Given the description of an element on the screen output the (x, y) to click on. 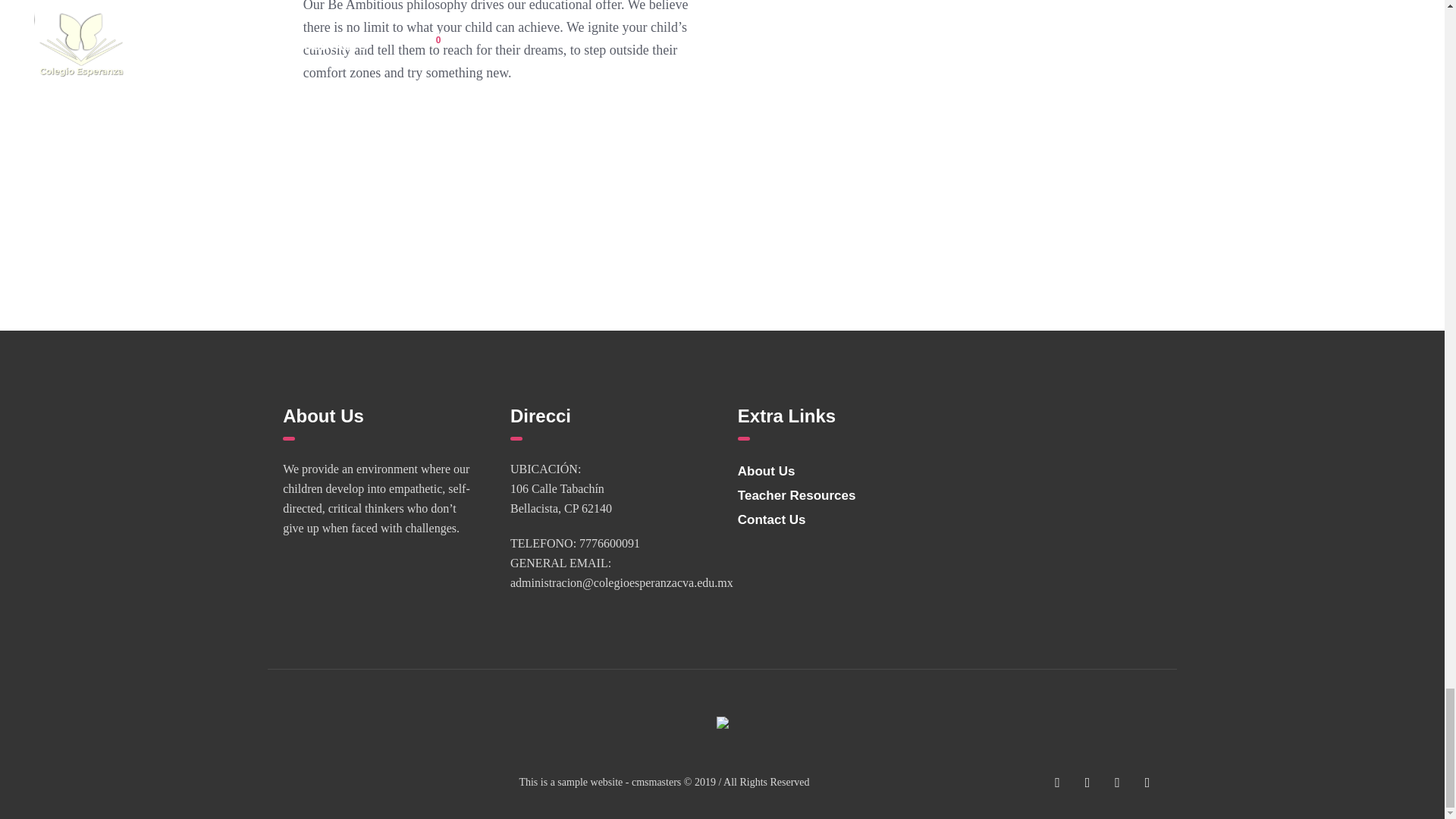
Teacher Resources (797, 495)
Contact Us (772, 519)
About Us (766, 471)
Facebook (1057, 782)
